Given the description of an element on the screen output the (x, y) to click on. 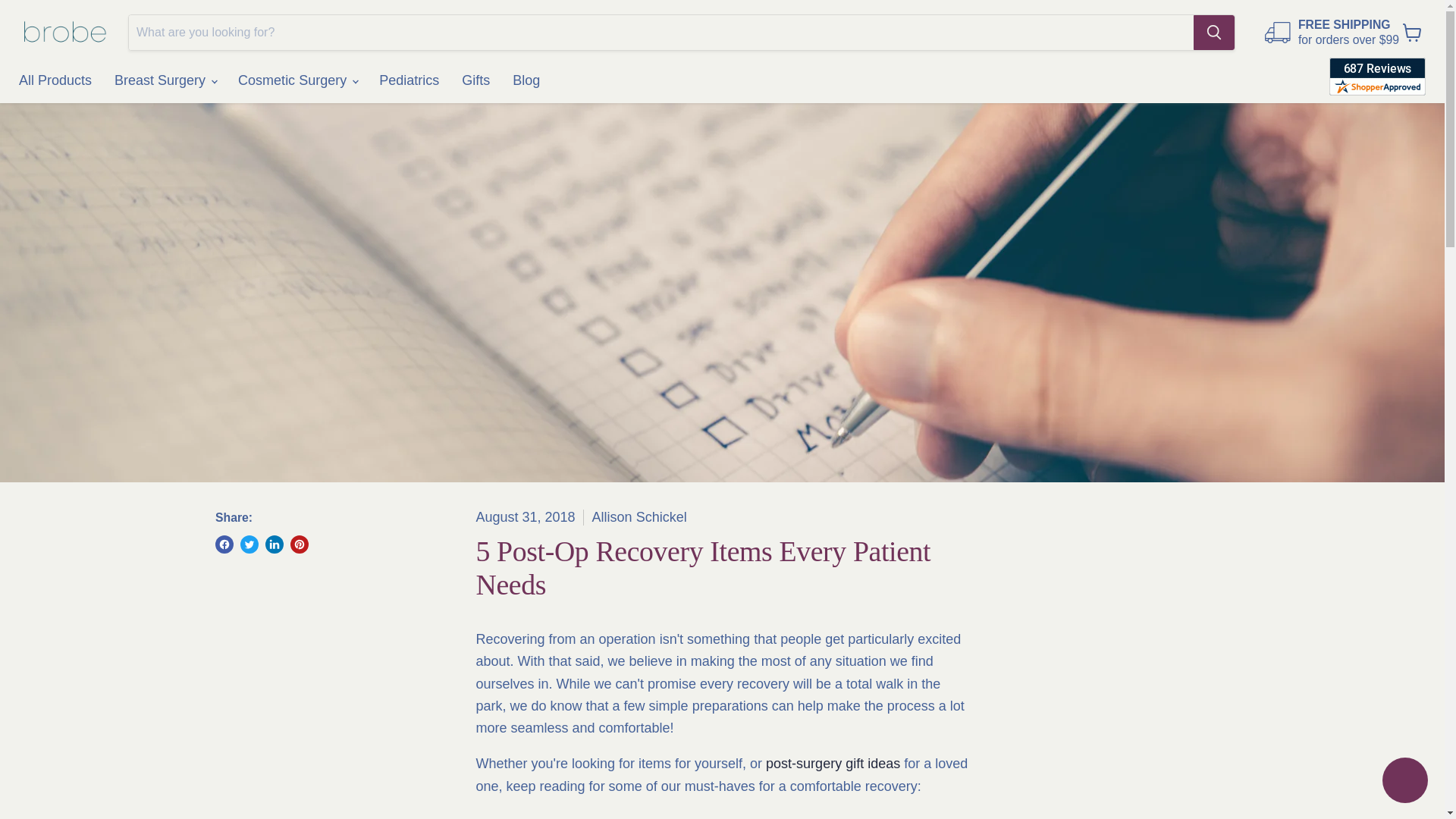
Blog (525, 80)
View cart (1411, 32)
Gifts (474, 80)
Pediatrics (408, 80)
Shopify online store chat (1404, 781)
All Products (55, 80)
